Given the description of an element on the screen output the (x, y) to click on. 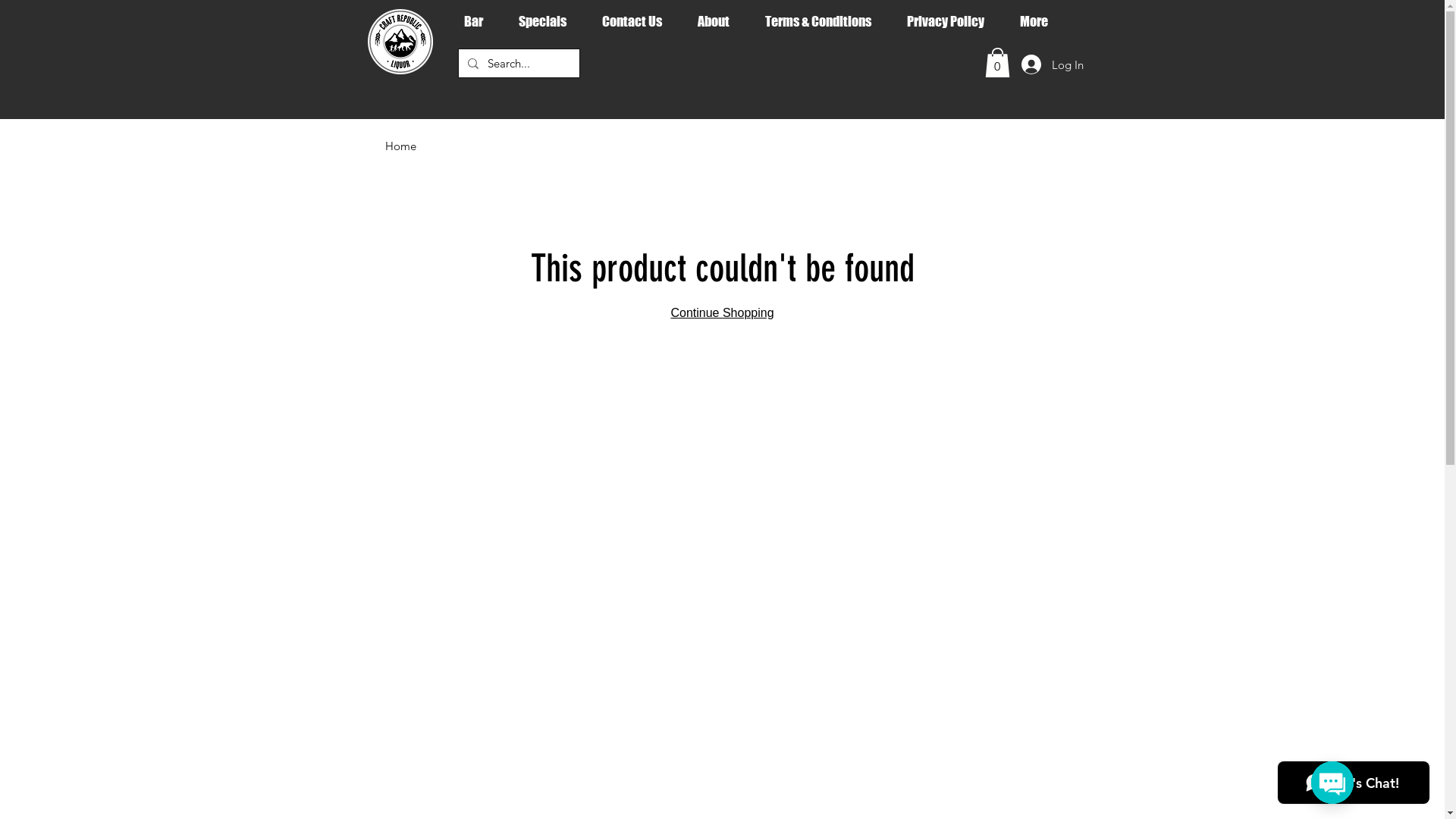
Specials Element type: text (547, 21)
Contact Us Element type: text (637, 21)
0 Element type: text (996, 62)
About Element type: text (719, 21)
Bar Element type: text (478, 21)
Home Element type: text (400, 145)
Log In Element type: text (1051, 64)
Terms & Conditions Element type: text (824, 21)
TWIPLA (Visitor Analytics) Element type: hover (1442, 4)
Continue Shopping Element type: text (721, 312)
Privacy Policy Element type: text (950, 21)
